Given the description of an element on the screen output the (x, y) to click on. 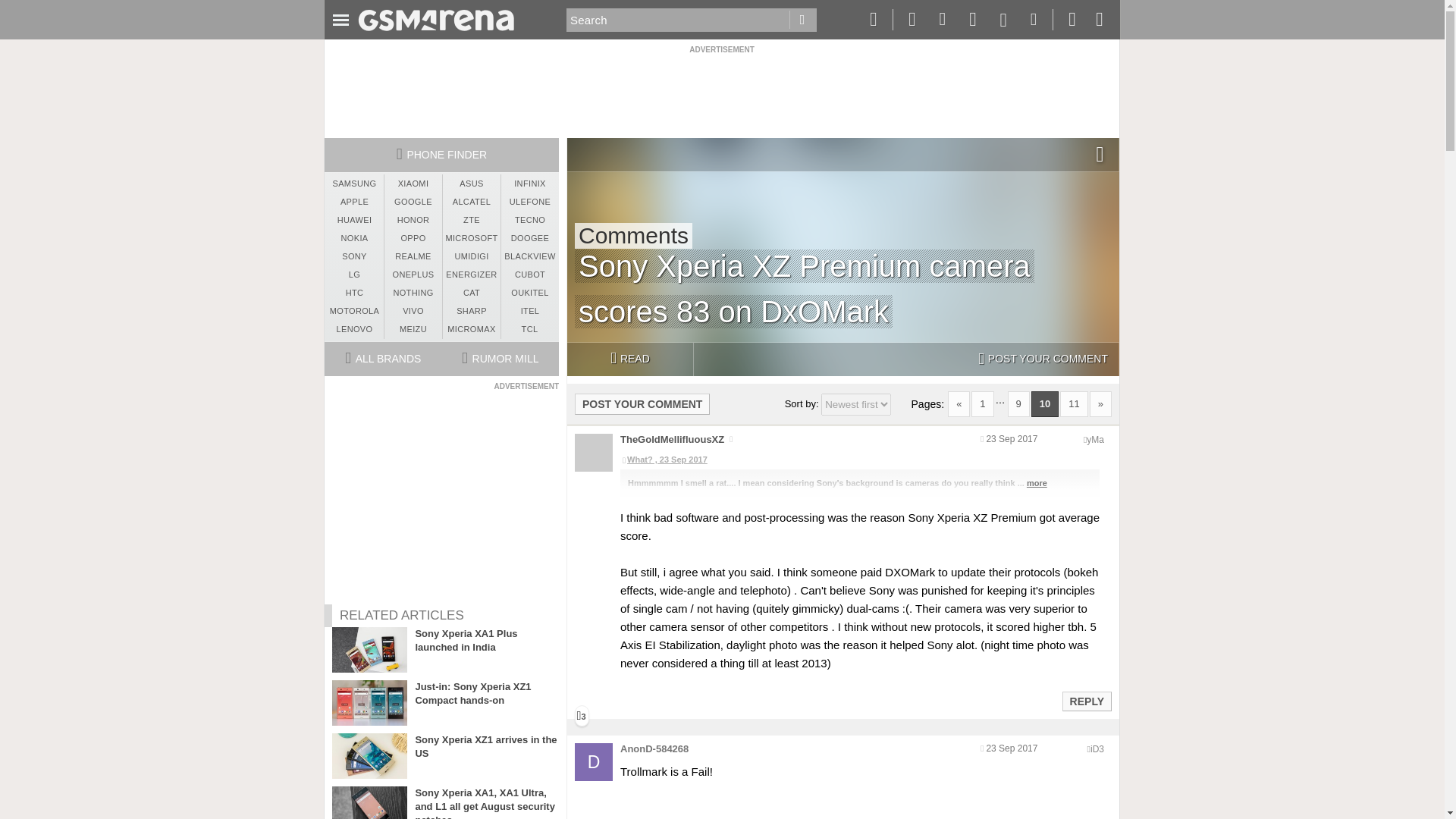
Go (802, 19)
Encoded anonymized location (1094, 439)
POST YOUR COMMENT (642, 403)
TheGoldMellifluousXZ (671, 439)
Reply to this post (1086, 701)
Encoded anonymized location (1096, 748)
Go (802, 19)
3rd party ad content (721, 88)
READ (630, 359)
POST YOUR COMMENT (1042, 359)
Sort comments by (856, 404)
11 (1073, 403)
